Given the description of an element on the screen output the (x, y) to click on. 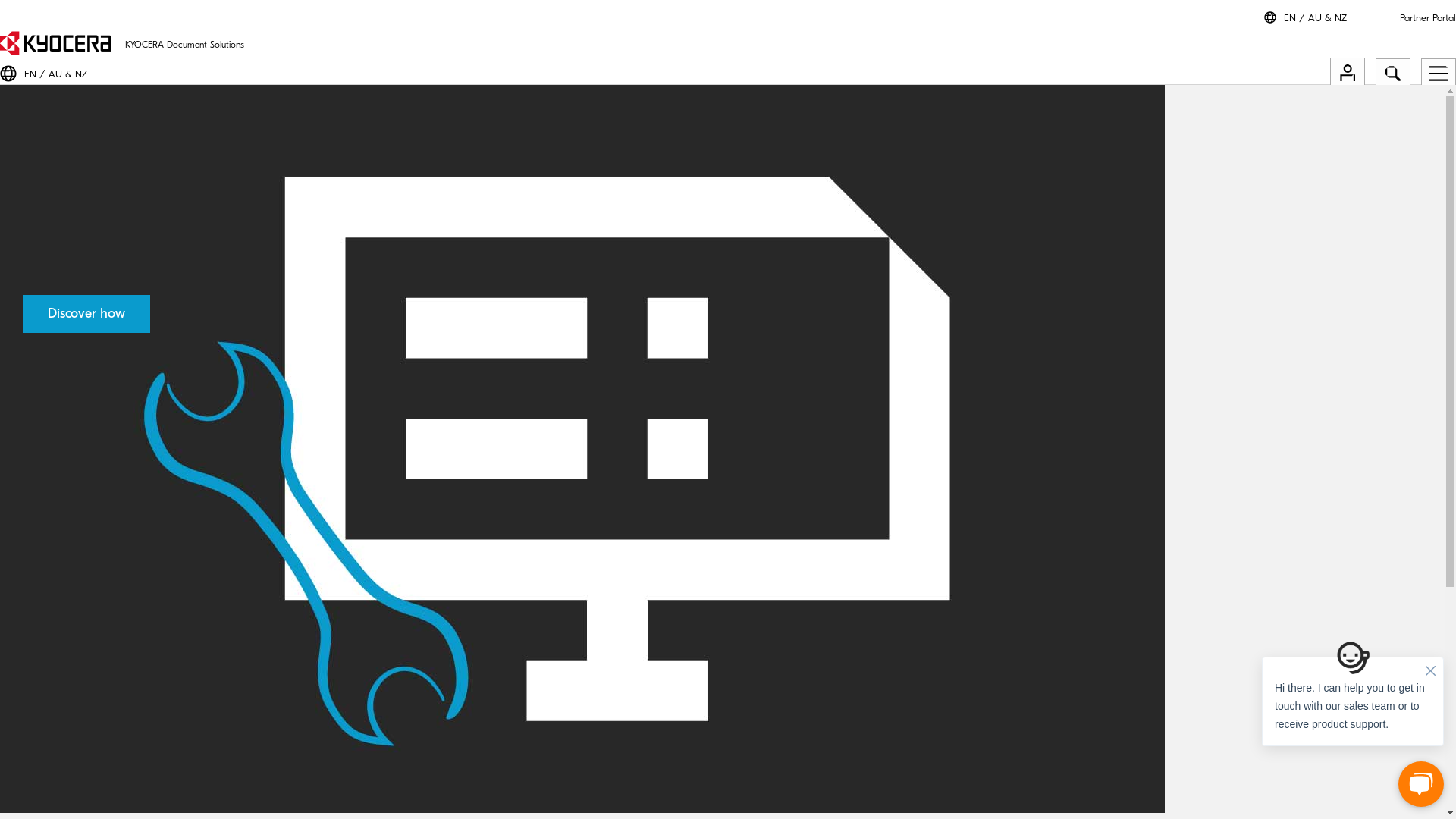
Sustainability Element type: text (84, 629)
Data Security Element type: text (84, 641)
Innovation Element type: text (78, 618)
Put knowledge to work Element type: text (727, 500)
EN / AU & NZ Element type: text (55, 73)
EN / AU & NZ Element type: text (1314, 17)
Discover how Element type: text (86, 313)
Business Challenges Element type: text (99, 572)
Insights From Kyocera Element type: text (101, 652)
Smarter Workspaces Element type: text (727, 130)
E-books Element type: text (73, 675)
Mobility Element type: text (73, 606)
Articles Element type: text (71, 663)
Insights Hub Element type: text (727, 453)
Case Studies Element type: text (83, 686)
Business Challenges Element type: text (727, 406)
Paperless Element type: text (75, 595)
The Cloud Element type: text (78, 584)
Business Solutions Element type: text (727, 753)
